Given the description of an element on the screen output the (x, y) to click on. 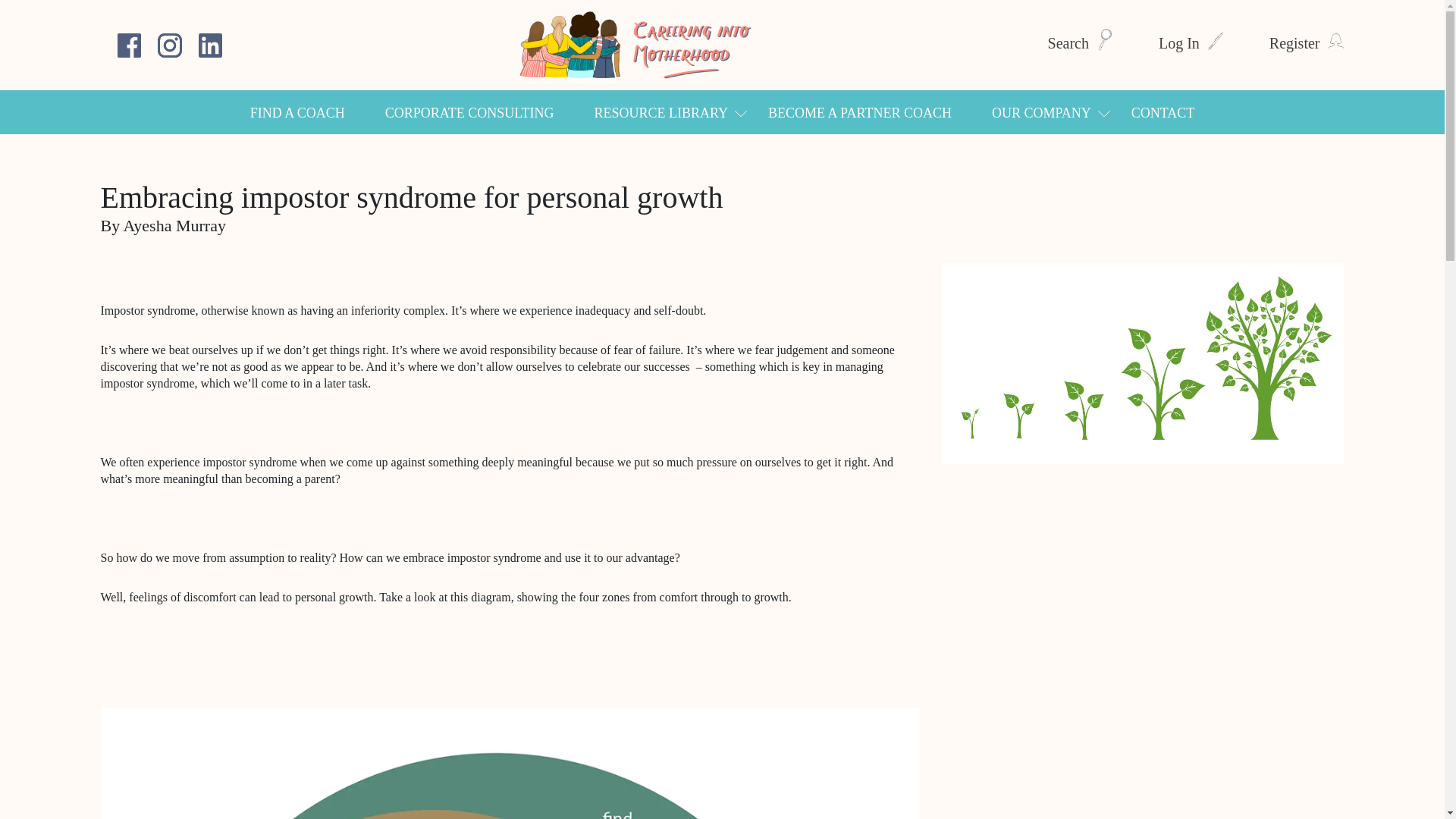
RESOURCE LIBRARY (661, 112)
Log In (1191, 43)
OUR COMPANY (1040, 112)
CORPORATE CONSULTING (469, 112)
CONTACT (1163, 112)
BECOME A PARTNER COACH (860, 112)
Search (1080, 43)
FIND A COACH (297, 112)
Register (1306, 43)
